Given the description of an element on the screen output the (x, y) to click on. 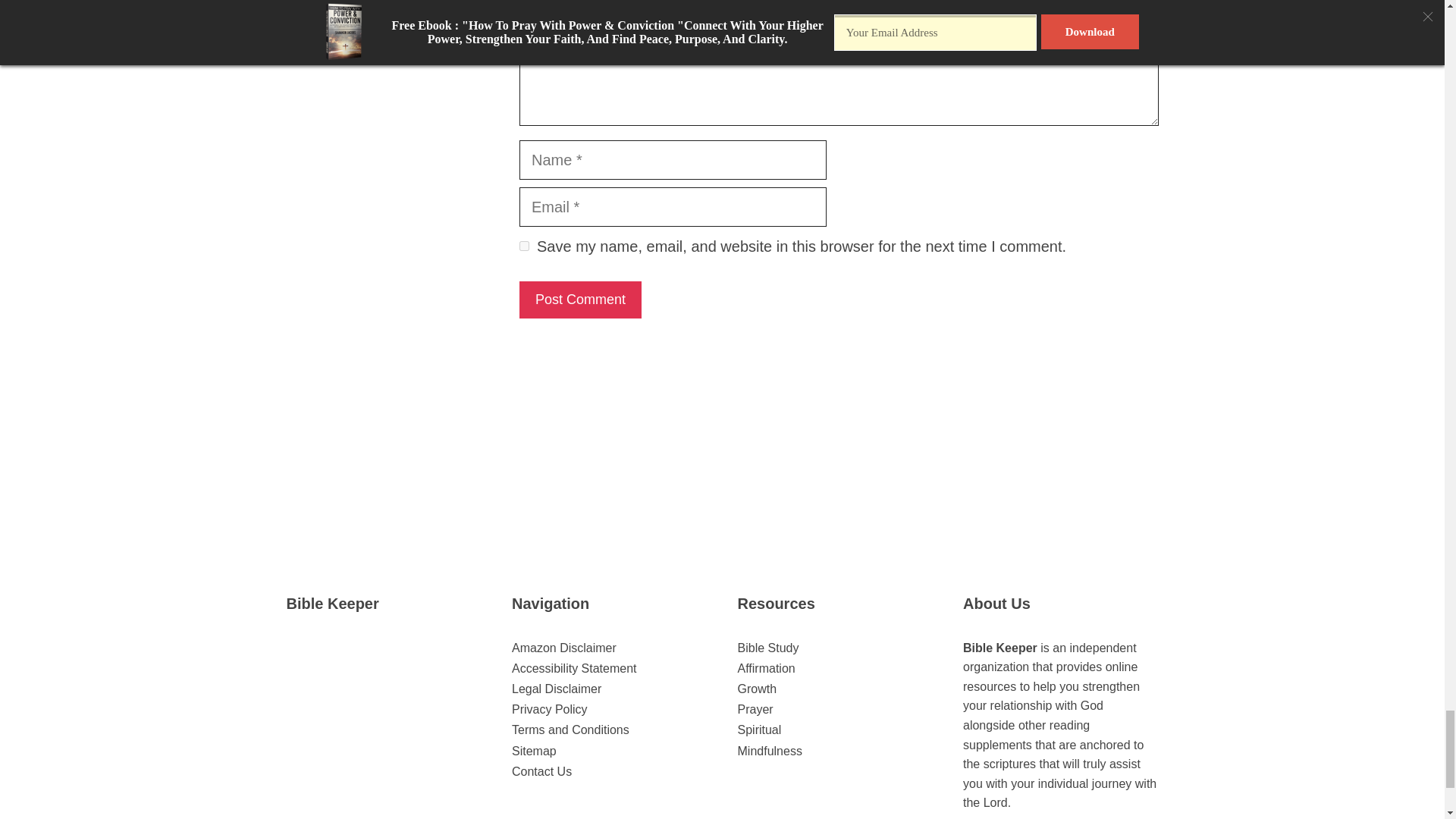
DMCA.com Protection Status (383, 748)
yes (524, 245)
Post Comment (580, 299)
